Given the description of an element on the screen output the (x, y) to click on. 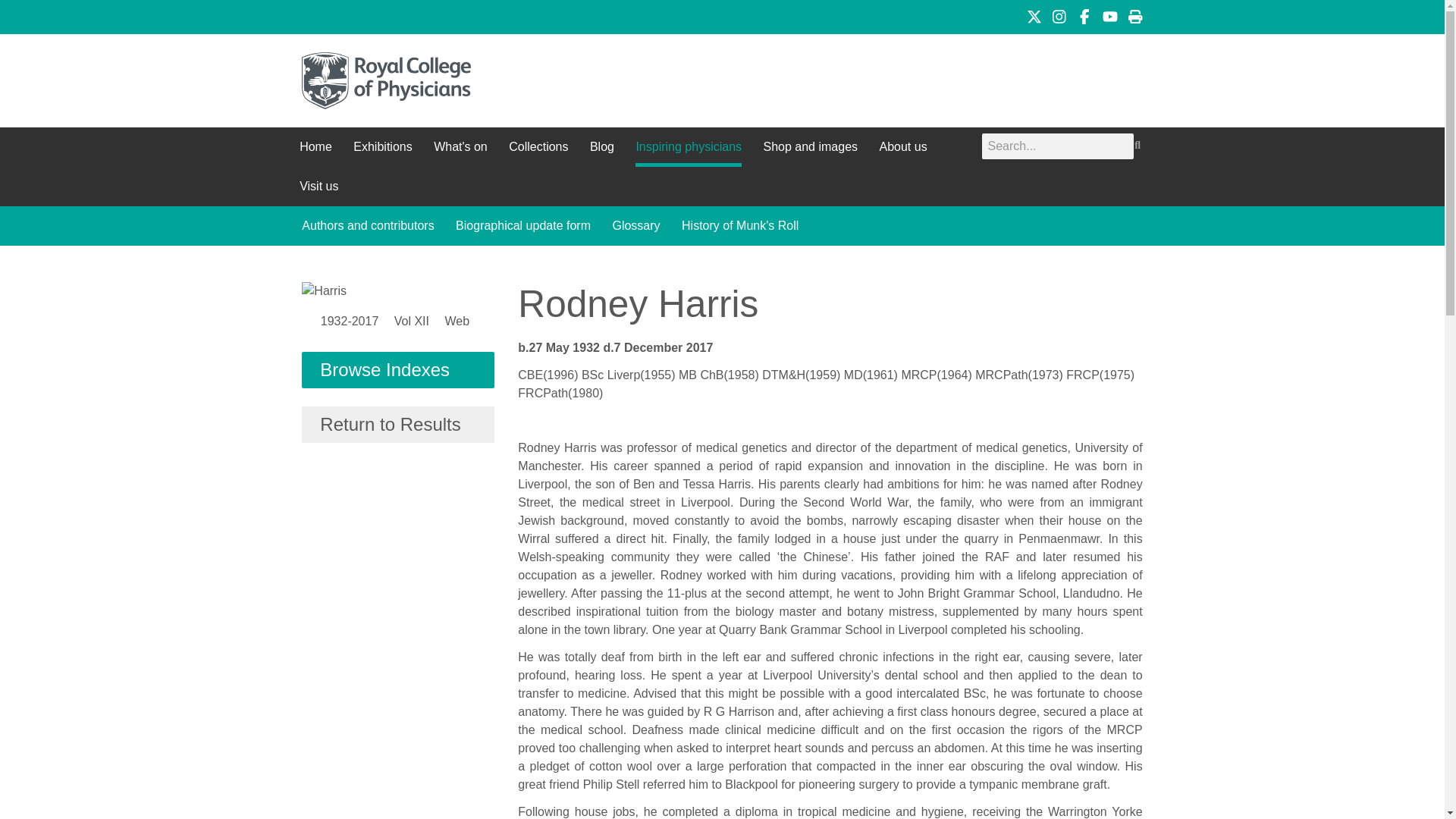
What's on (460, 147)
Authors and contributors (367, 225)
Glossary (635, 225)
Opens in a new window (1034, 16)
Exhibitions (382, 147)
What's on (460, 147)
Enter the terms you wish to search for. (1057, 145)
Shop and images (809, 147)
Collections (537, 147)
